Given the description of an element on the screen output the (x, y) to click on. 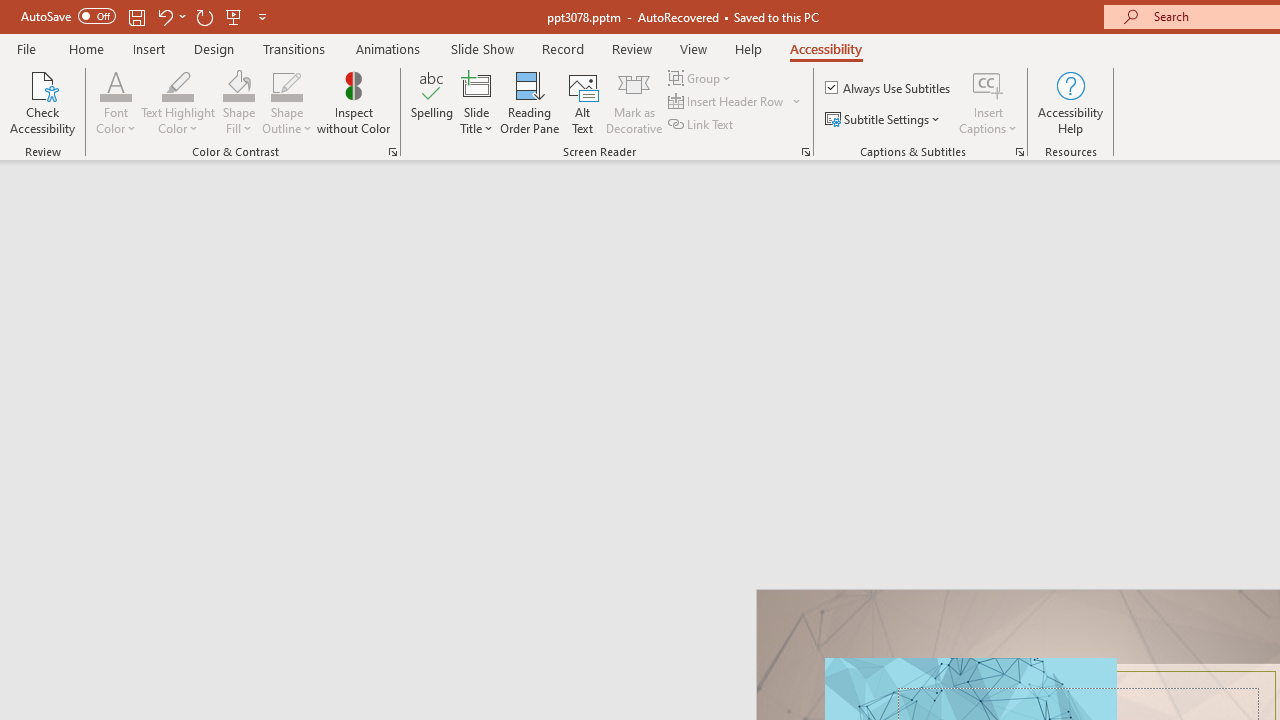
Insert Header Row (727, 101)
Shape Fill (238, 102)
Mark as Decorative (634, 102)
